Given the description of an element on the screen output the (x, y) to click on. 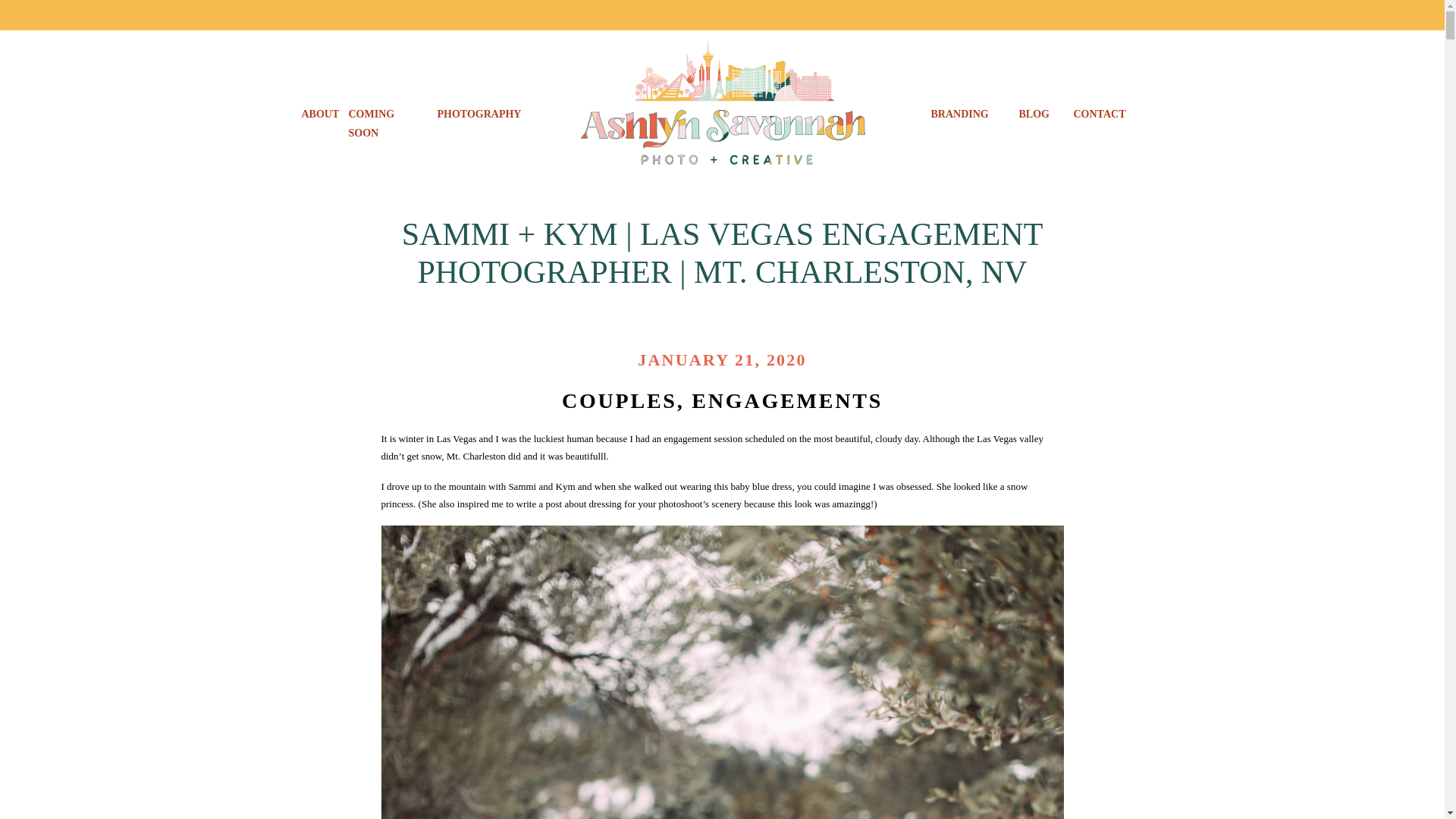
ENGAGEMENTS (786, 366)
COUPLES (619, 366)
PHOTOGRAPHY (477, 114)
ABOUT (318, 114)
COMING SOON (387, 114)
BLOG (1032, 114)
CONTACT (1101, 114)
BRANDING (962, 114)
